Given the description of an element on the screen output the (x, y) to click on. 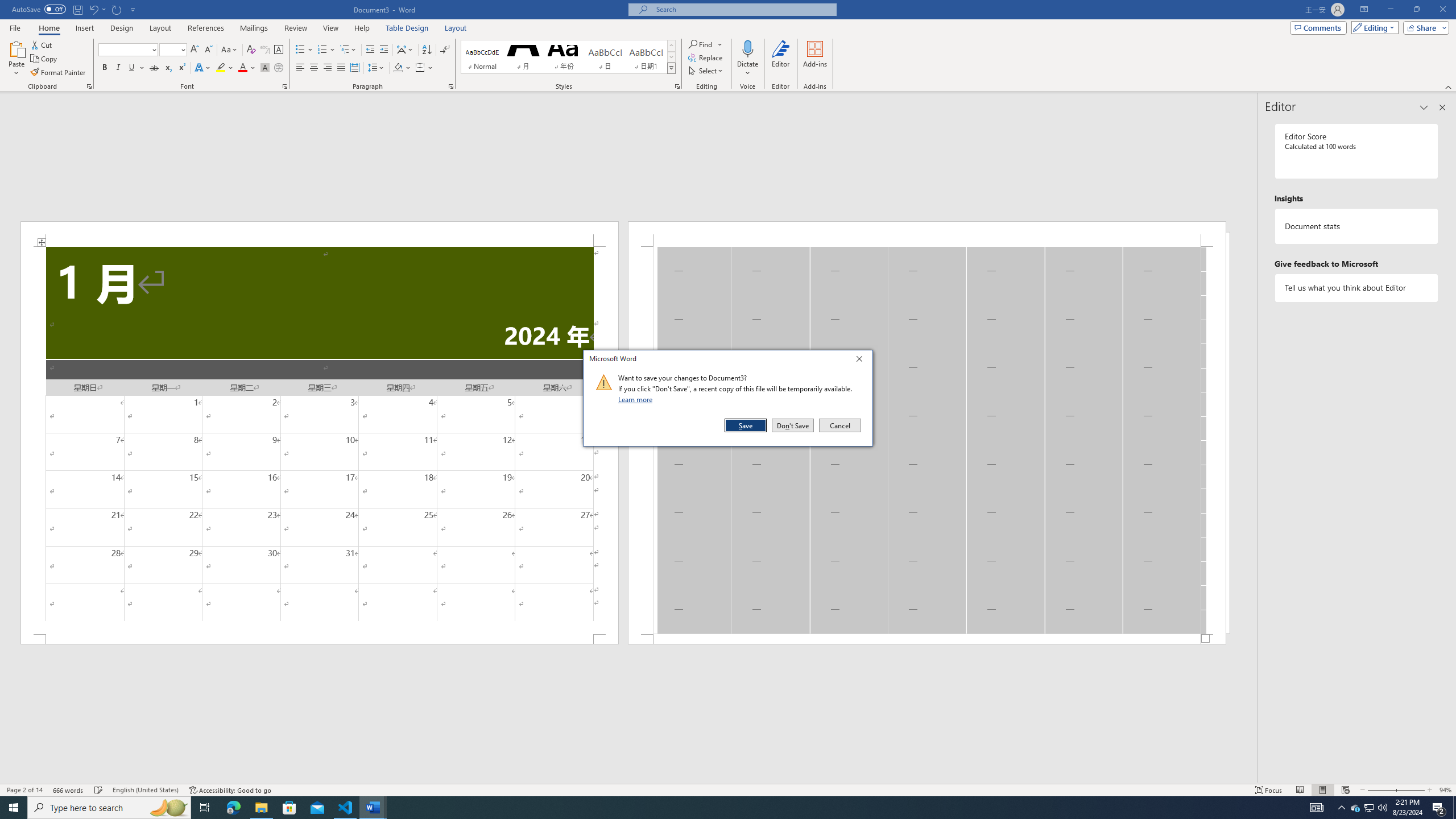
Insert (83, 28)
Bullets (304, 49)
Italic (118, 67)
Microsoft Store (289, 807)
Font (124, 49)
Font Color RGB(255, 0, 0) (241, 67)
Copy (45, 58)
Text Highlight Color (224, 67)
Action Center, 2 new notifications (1439, 807)
Enclose Characters... (278, 67)
Q2790: 100% (1382, 807)
Numbering (322, 49)
Text Effects and Typography (202, 67)
Font Size (169, 49)
